Given the description of an element on the screen output the (x, y) to click on. 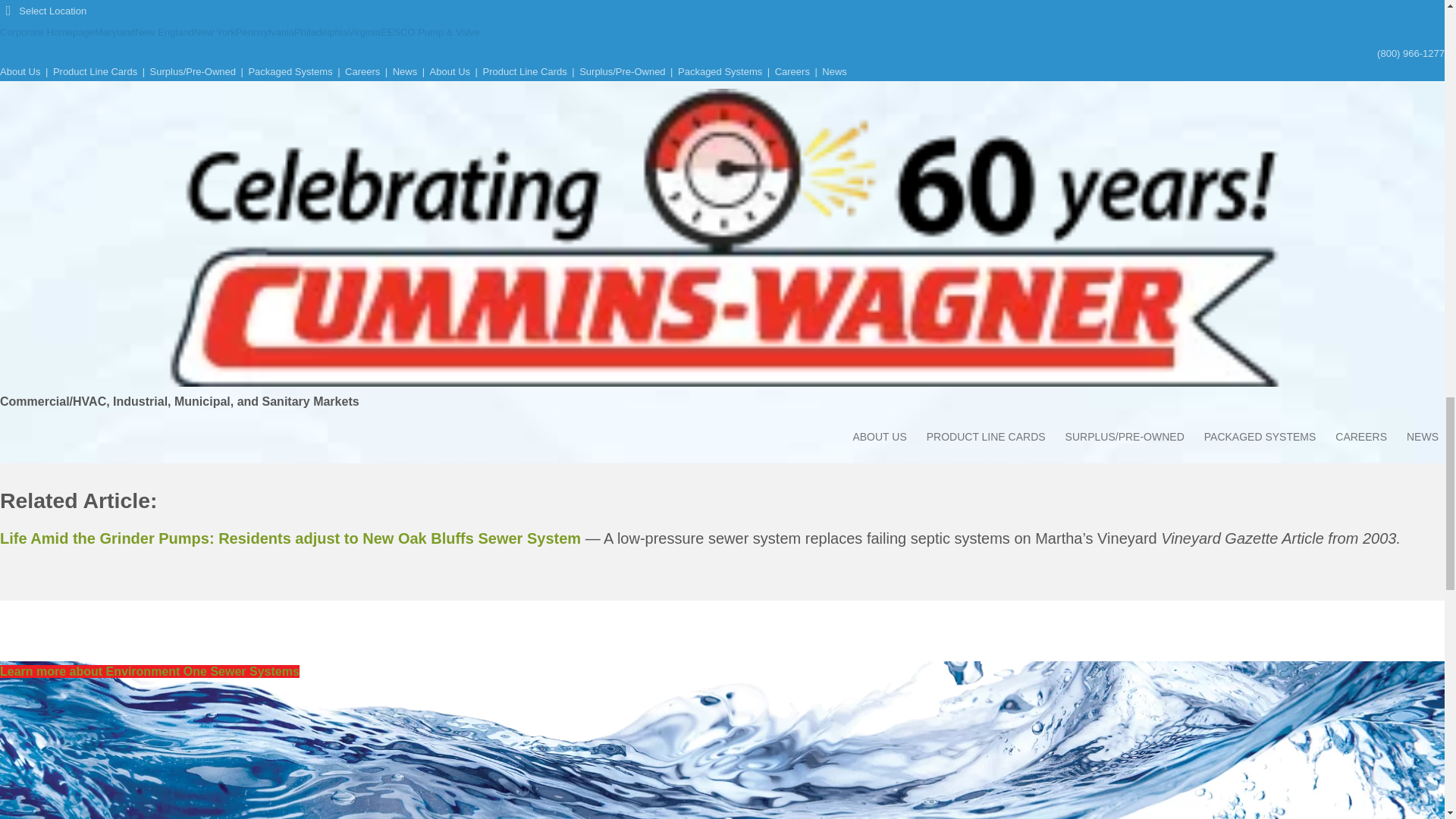
Learn more about Environment One Sewer Systems (149, 671)
